Given the description of an element on the screen output the (x, y) to click on. 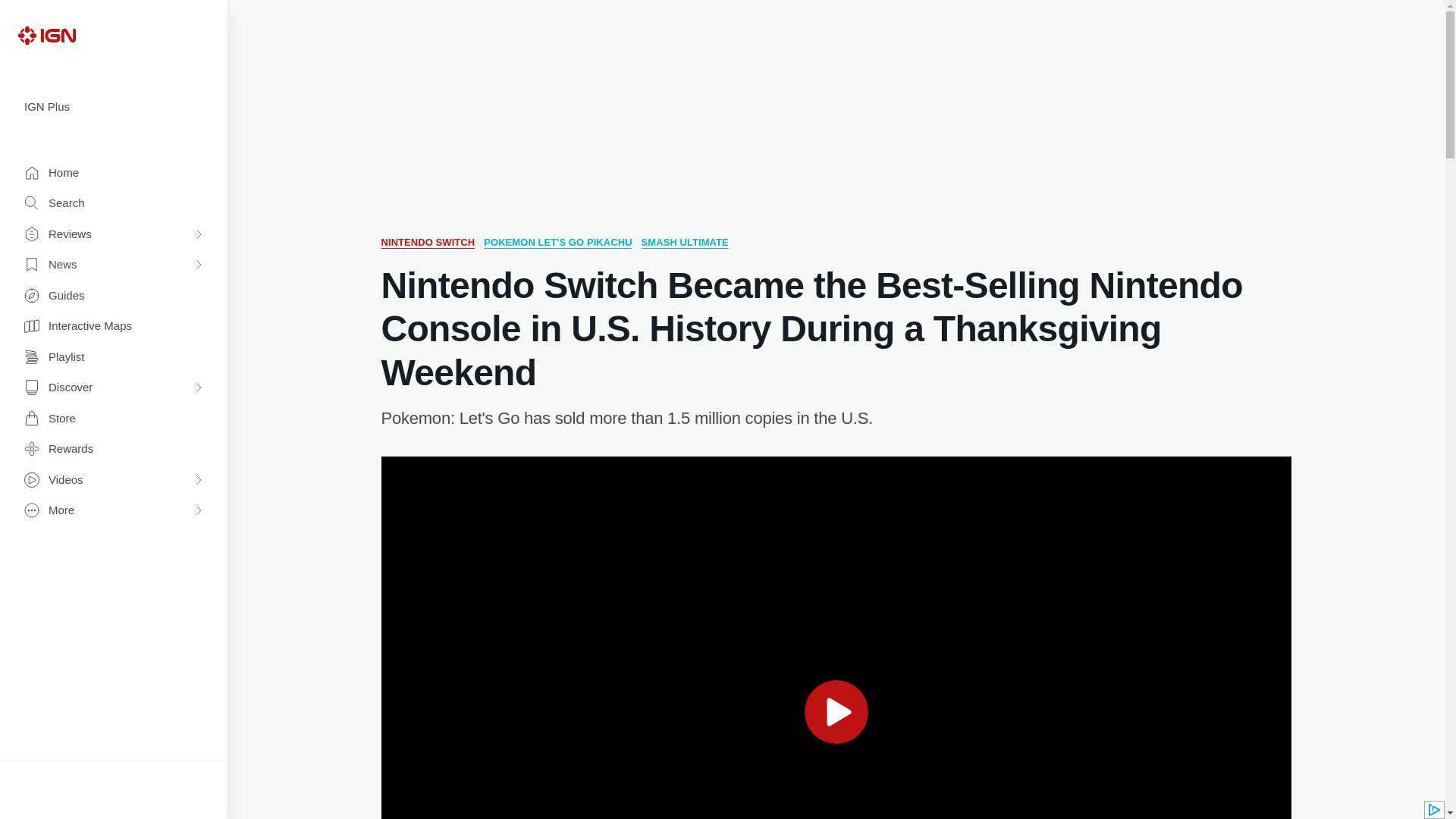
More (113, 510)
Home (113, 172)
Interactive Maps (113, 326)
Videos (113, 480)
Guides (113, 295)
IGN Logo (46, 35)
Discover (113, 387)
News (113, 265)
Store (113, 418)
Discover (113, 387)
Reviews (113, 234)
Guides (113, 295)
Reviews (113, 234)
Playlist (113, 357)
Videos (113, 480)
